Given the description of an element on the screen output the (x, y) to click on. 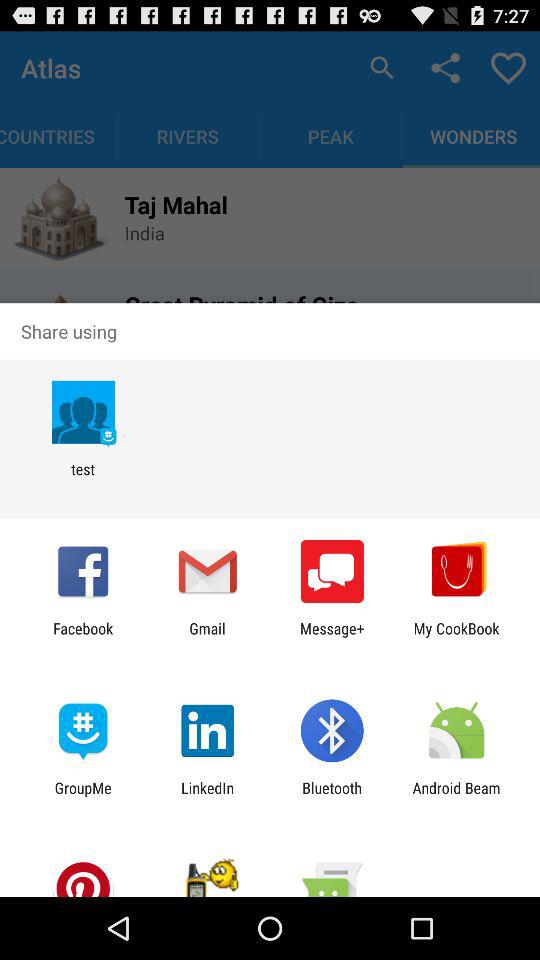
scroll until the facebook item (83, 637)
